Given the description of an element on the screen output the (x, y) to click on. 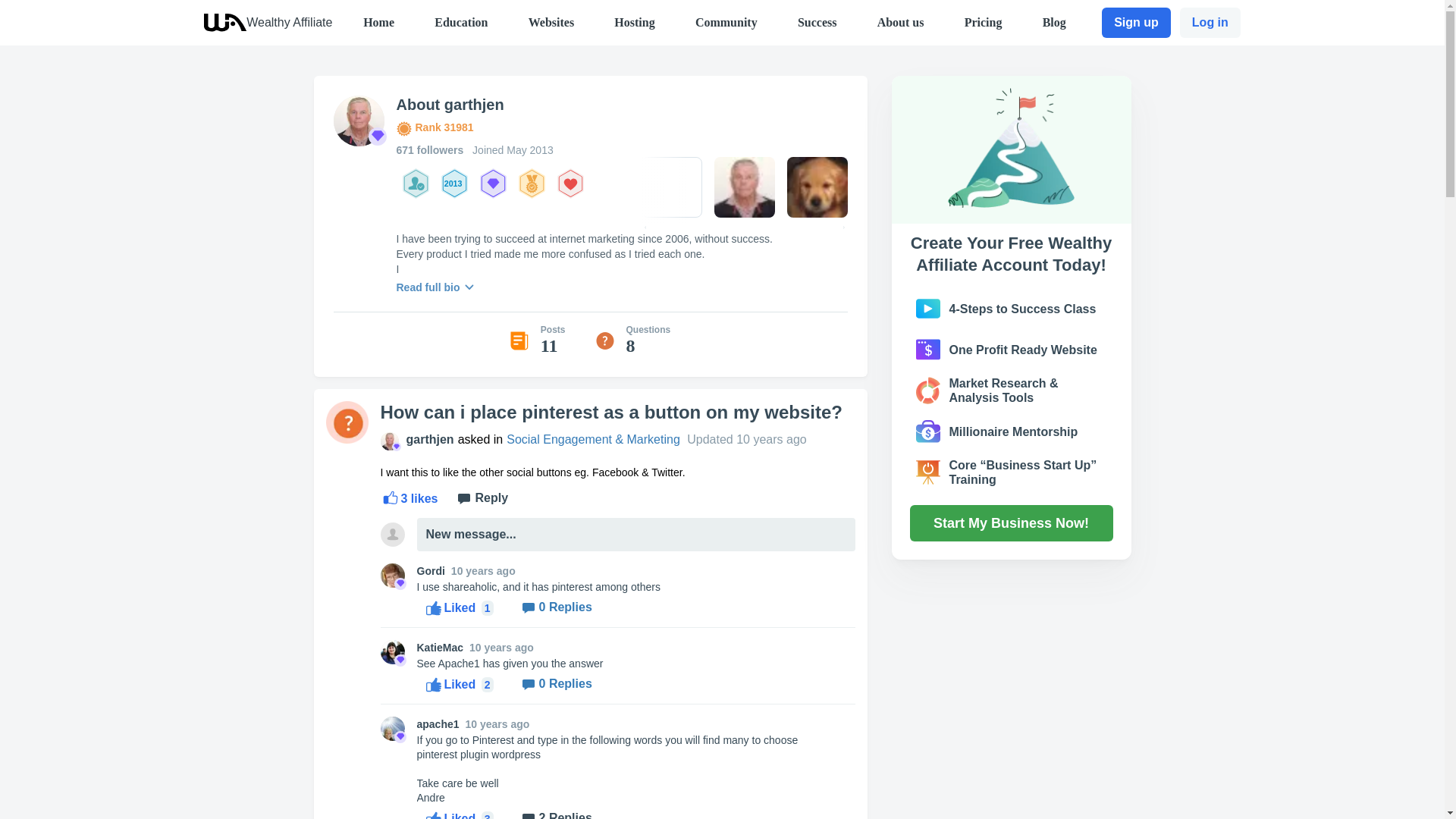
Success (817, 21)
Blog (1053, 21)
Sign up (1136, 22)
Websites (550, 21)
Hosting (633, 21)
About us (900, 21)
Read full bio (436, 285)
Wed, 13 Aug 2014 03:52:05 GMT (483, 571)
Mon, 11 Aug 2014 19:58:37 GMT (497, 724)
Pricing (983, 21)
Wealthy Affiliate (288, 21)
Home (378, 21)
Log in (1209, 22)
Mon, 11 Aug 2014 20:40:16 GMT (501, 647)
Education (460, 21)
